Given the description of an element on the screen output the (x, y) to click on. 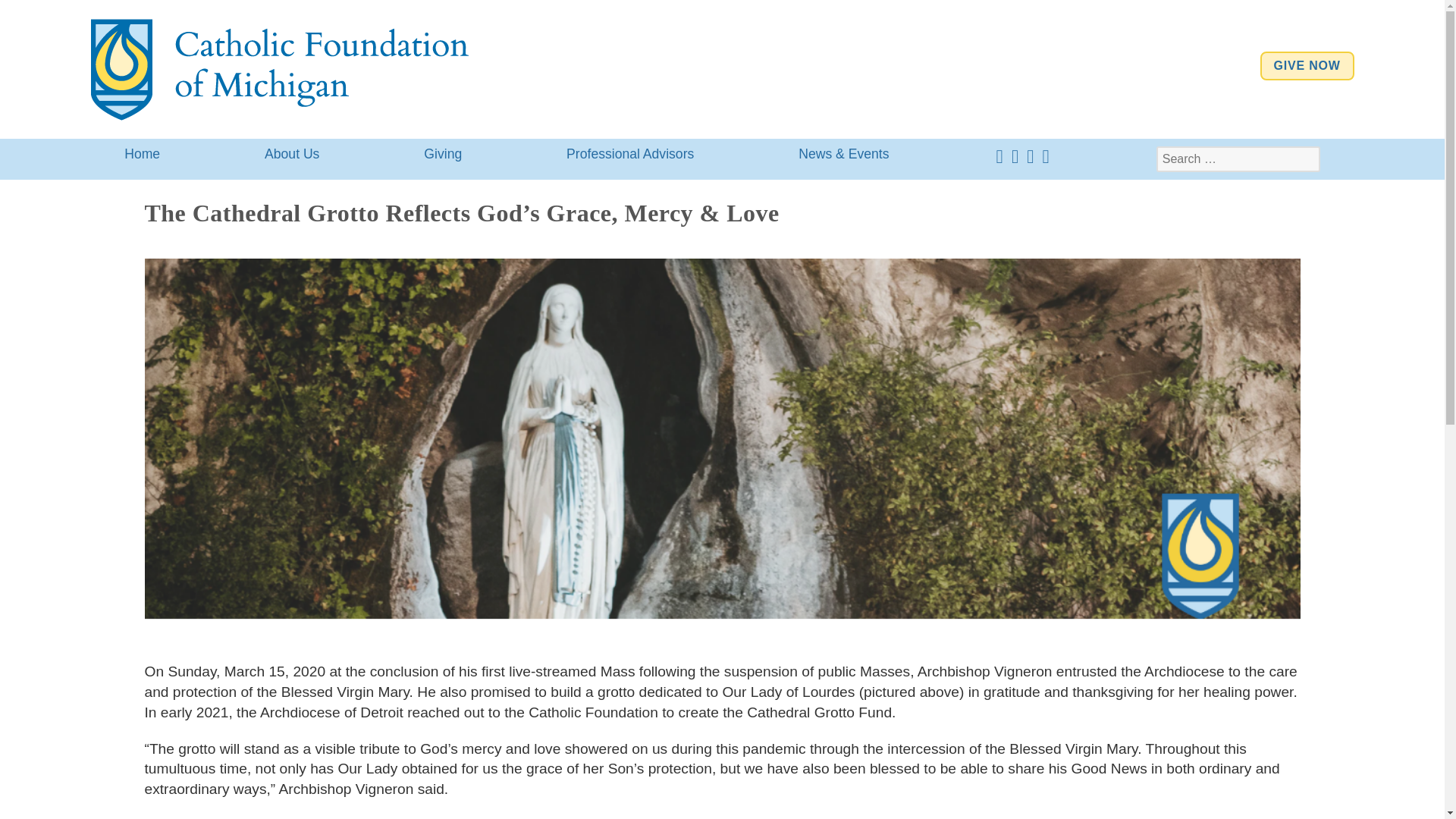
GIVE NOW (1307, 65)
Giving (443, 153)
Catholic Foundation of Michigan (279, 67)
About Us (291, 153)
Professional Advisors (630, 153)
Home (142, 153)
